Given the description of an element on the screen output the (x, y) to click on. 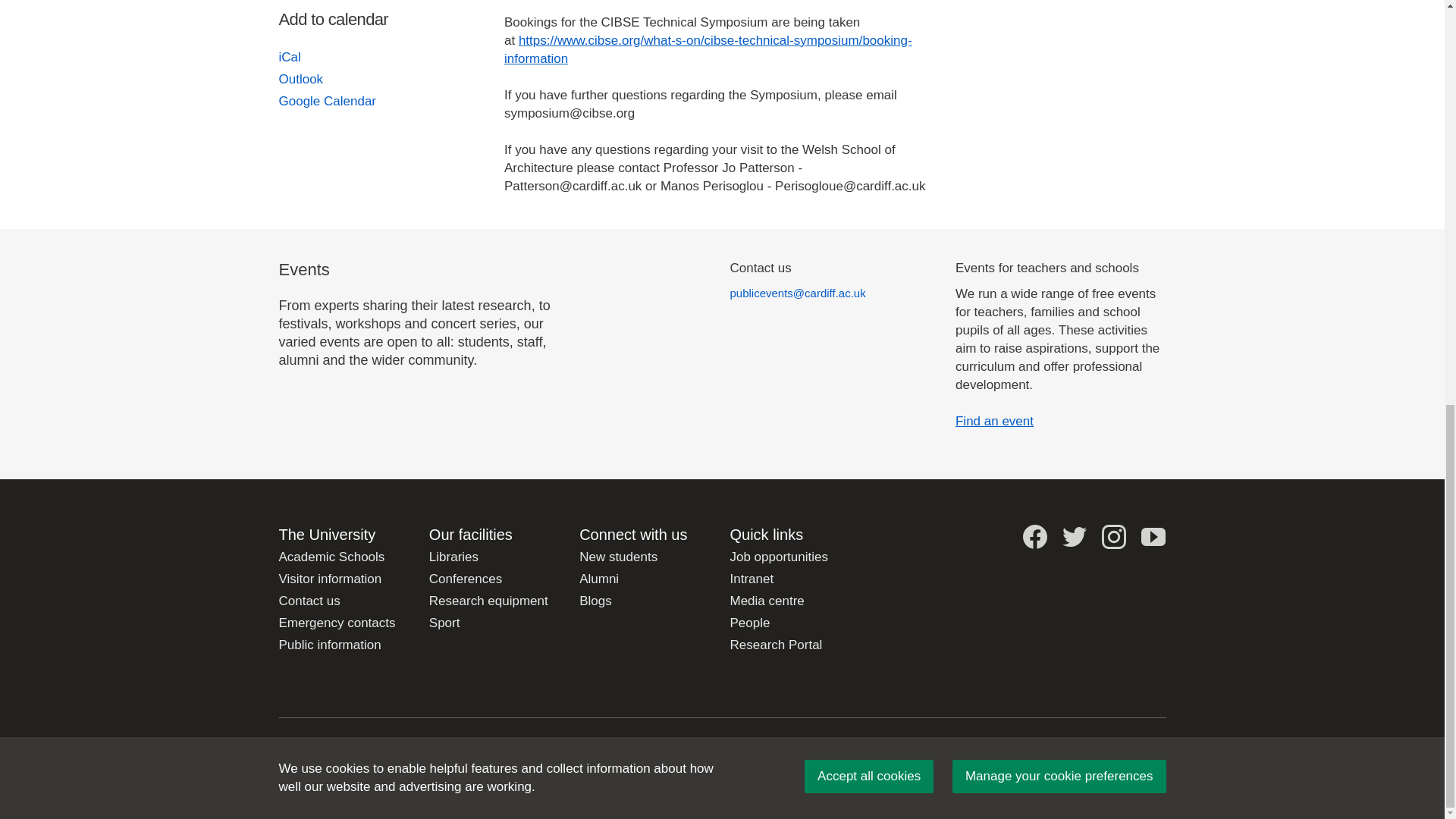
instagram (1113, 536)
Youtube (1153, 536)
facebook (1034, 536)
twitter no background icon (1074, 536)
